Given the description of an element on the screen output the (x, y) to click on. 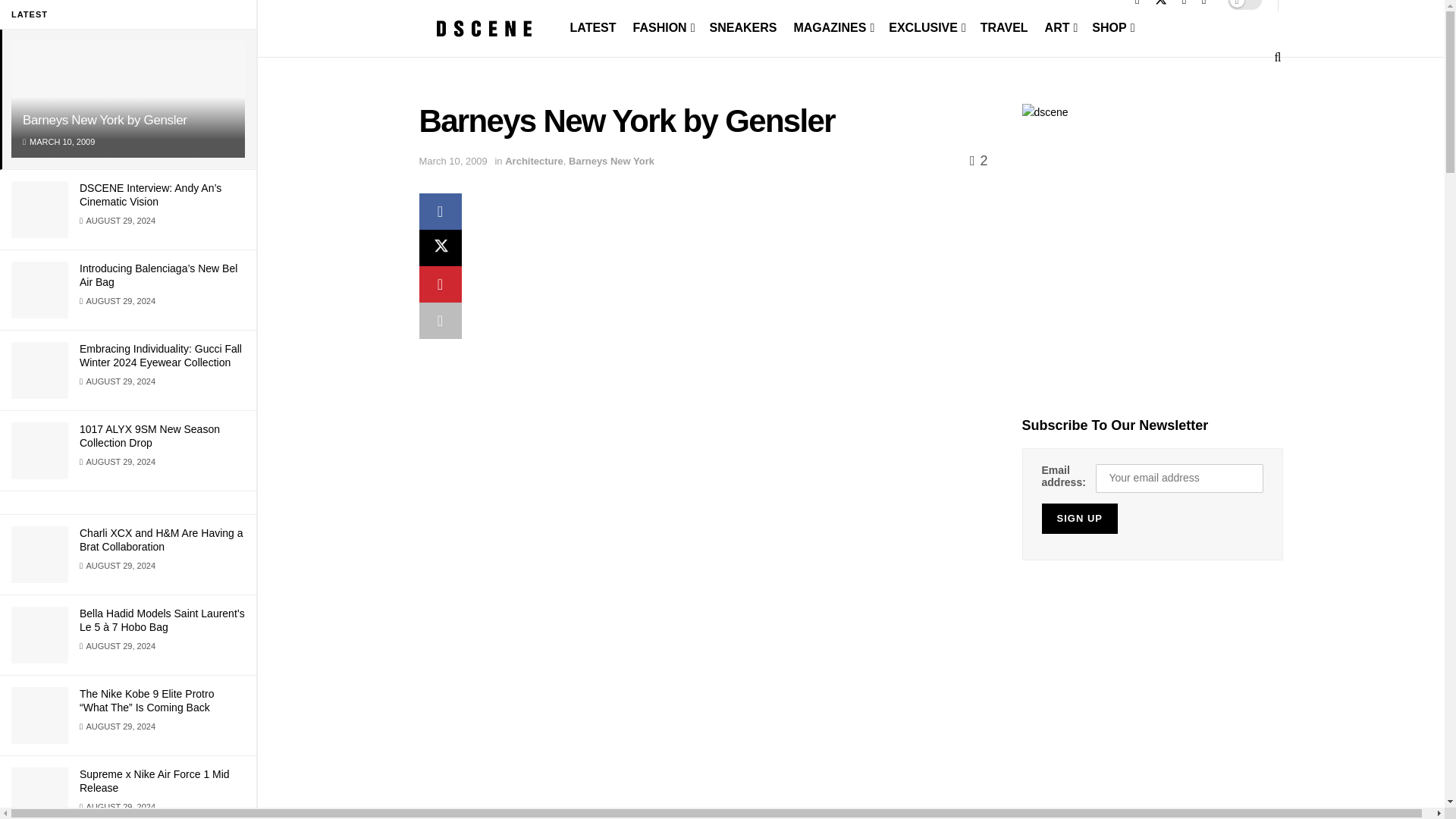
Supreme x Nike Air Force 1 Mid Release (155, 780)
LATEST (592, 27)
FASHION (663, 27)
Barneys New York by Gensler (105, 120)
Sign up (1080, 518)
1017 ALYX 9SM New Season Collection Drop (149, 435)
